Given the description of an element on the screen output the (x, y) to click on. 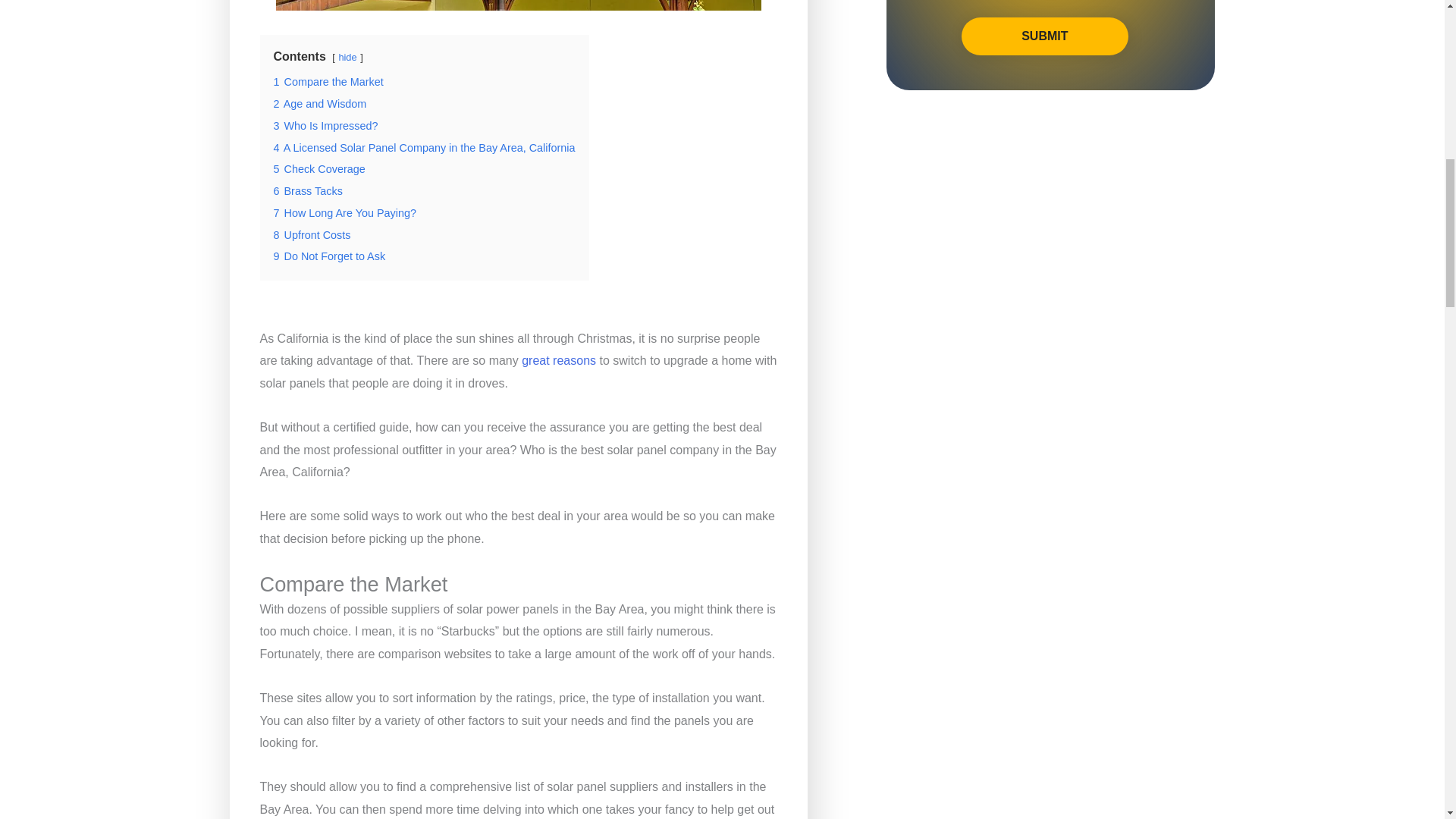
4 A Licensed Solar Panel Company in the Bay Area, California (424, 147)
6 Brass Tacks (307, 191)
Submit (1044, 36)
9 Do Not Forget to Ask (329, 256)
7 How Long Are You Paying? (343, 213)
2 Age and Wisdom (319, 103)
8 Upfront Costs (311, 234)
3 Who Is Impressed? (325, 125)
Submit (1044, 36)
1 Compare the Market (327, 81)
